Given the description of an element on the screen output the (x, y) to click on. 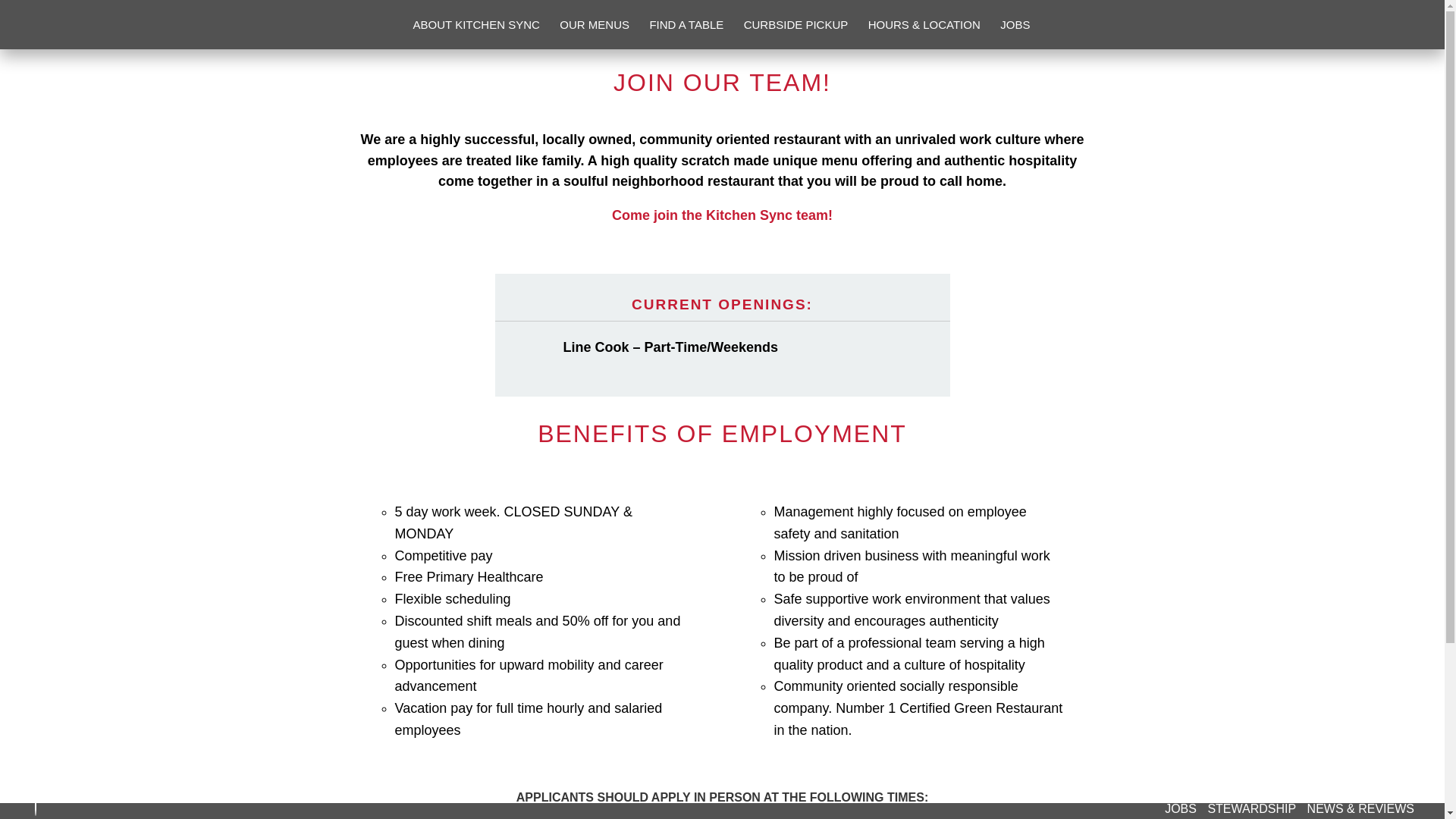
JOBS (1180, 808)
JOBS (1014, 34)
ABOUT KITCHEN SYNC (476, 34)
CURBSIDE PICKUP (796, 34)
OUR MENUS (593, 34)
FIND A TABLE (686, 34)
STEWARDSHIP (1251, 808)
